Given the description of an element on the screen output the (x, y) to click on. 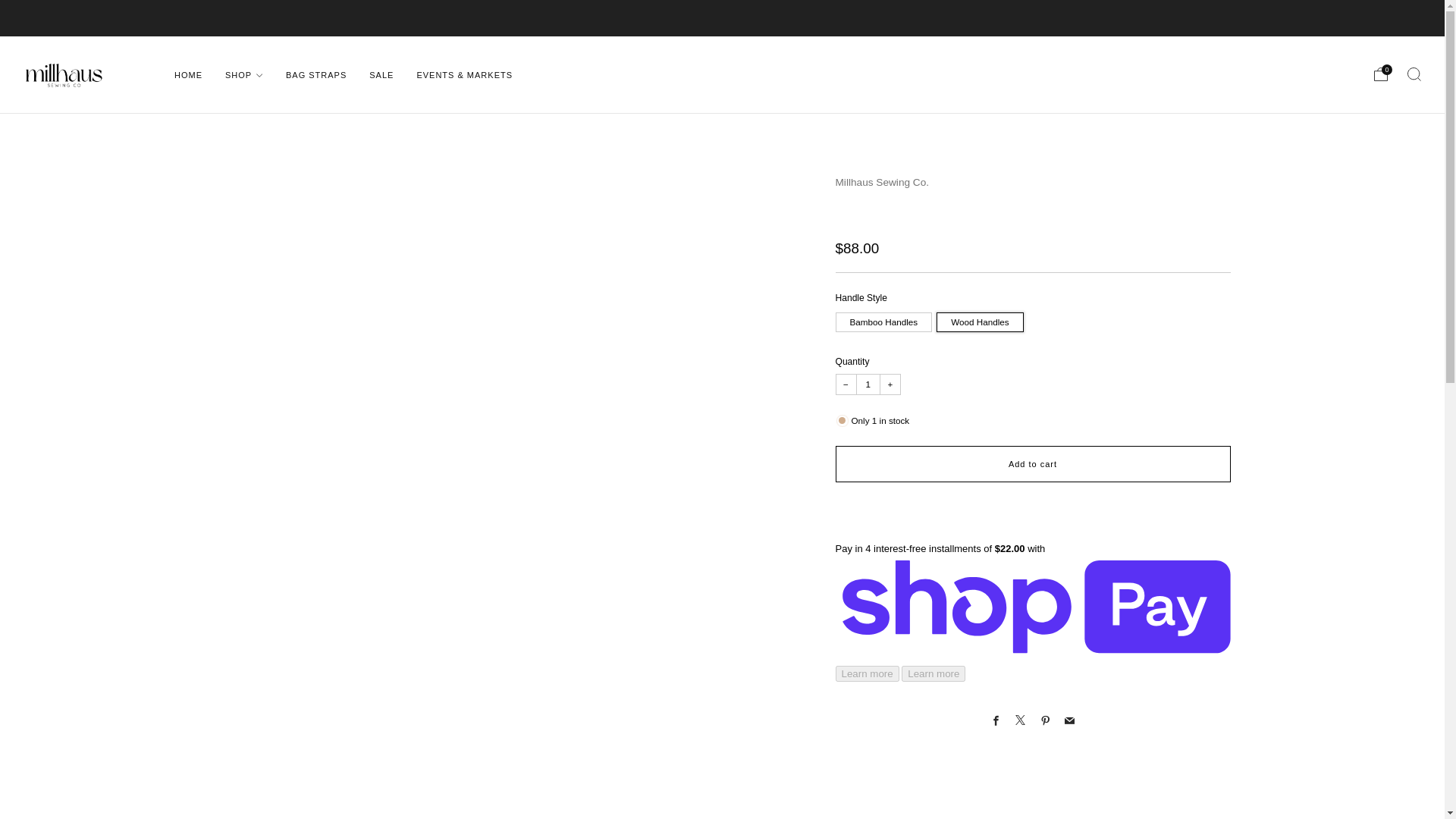
1 (868, 383)
SALE (381, 74)
Millhaus Sewing Co. (882, 181)
BAG STRAPS (315, 74)
Bamboo Handles (886, 318)
0 (1381, 73)
SHOP (244, 74)
HOME (188, 74)
